Given the description of an element on the screen output the (x, y) to click on. 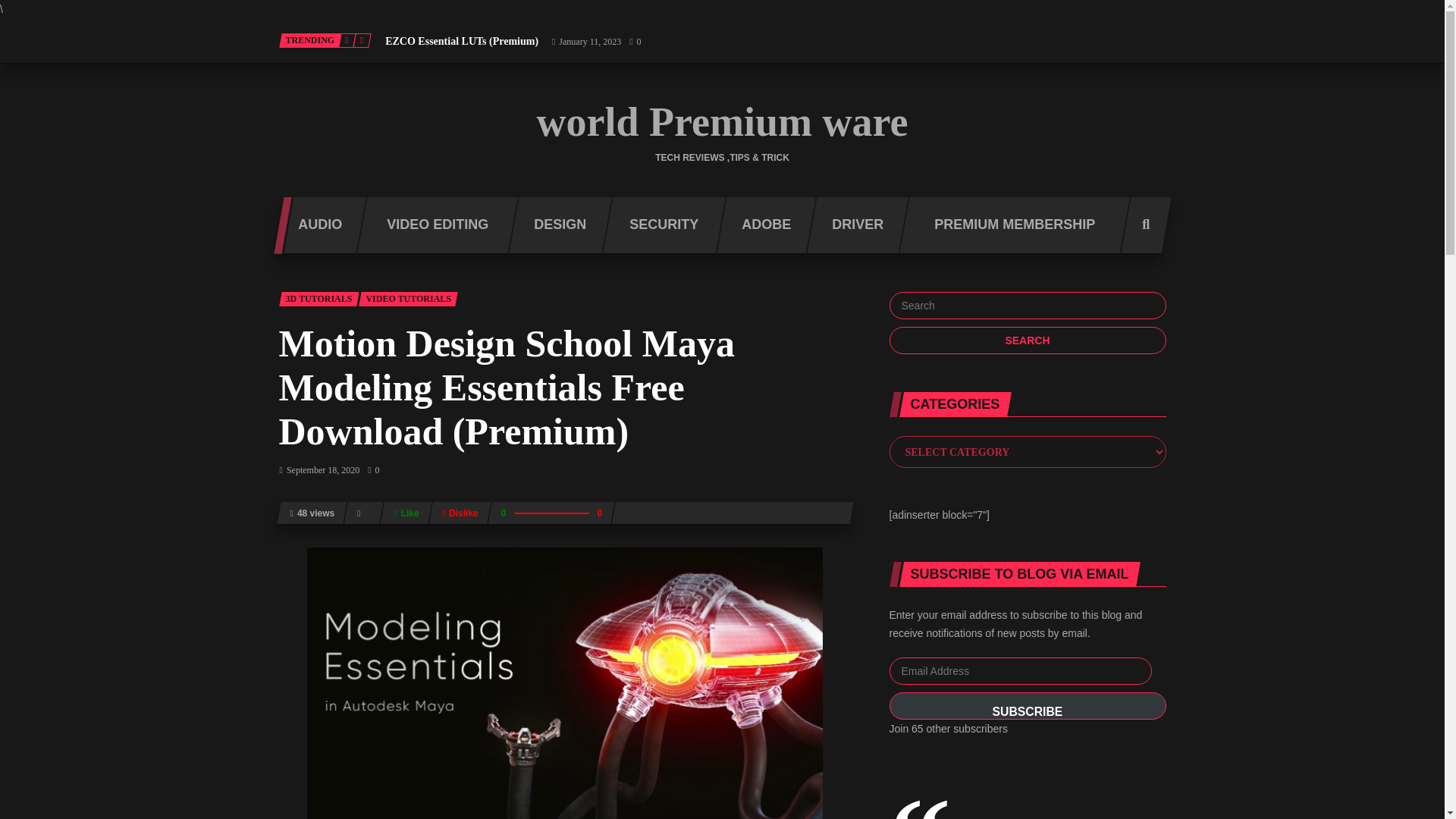
DESIGN (555, 225)
Premium Membership (1008, 225)
VIDEO TUTORIALS (408, 298)
Video Tutorials (408, 298)
3D TUTORIALS (319, 298)
Adobe (759, 225)
security (657, 225)
Dislike (460, 512)
SECURITY (657, 225)
design (555, 225)
